Given the description of an element on the screen output the (x, y) to click on. 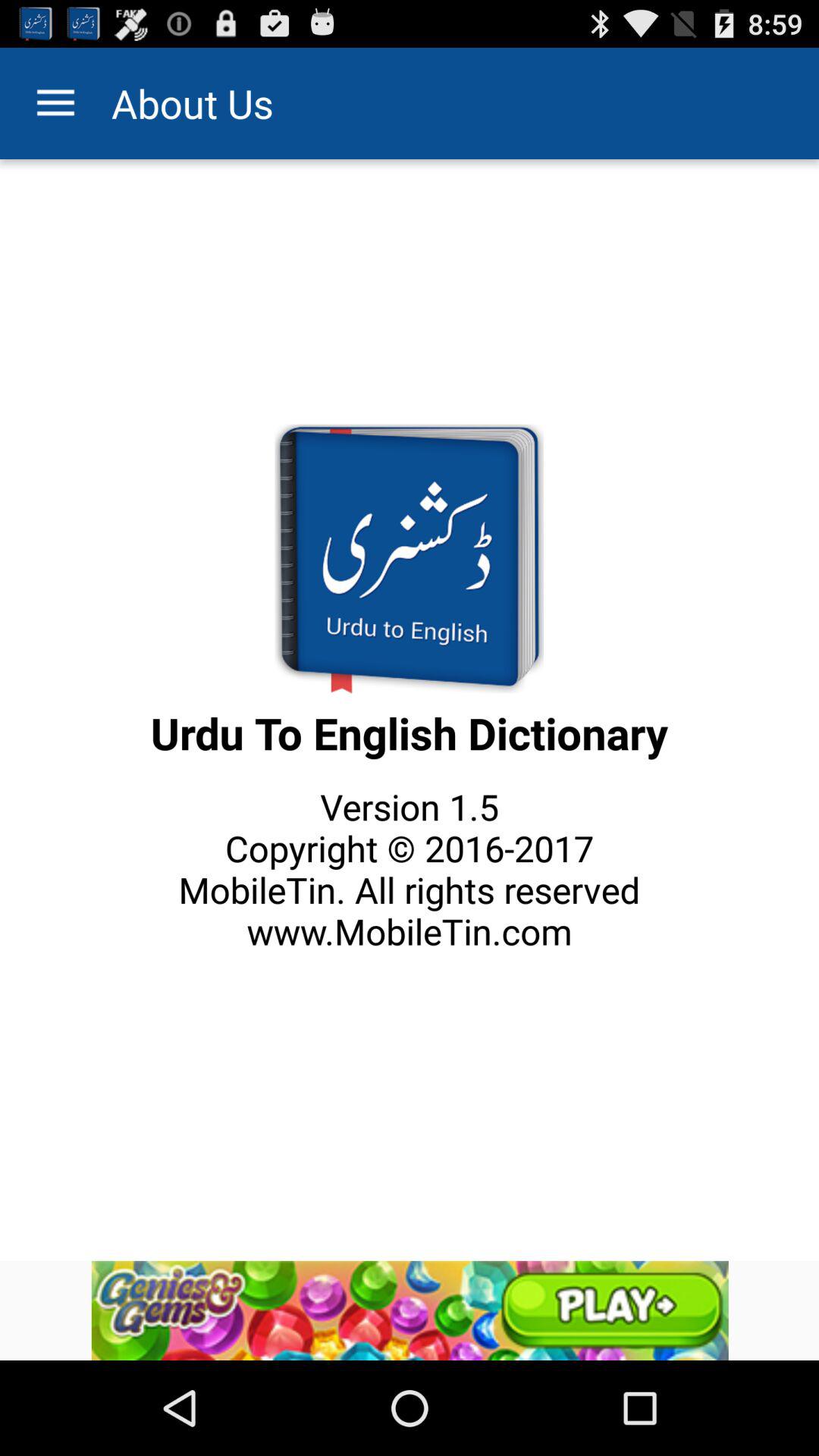
advertisement banner (409, 1310)
